Given the description of an element on the screen output the (x, y) to click on. 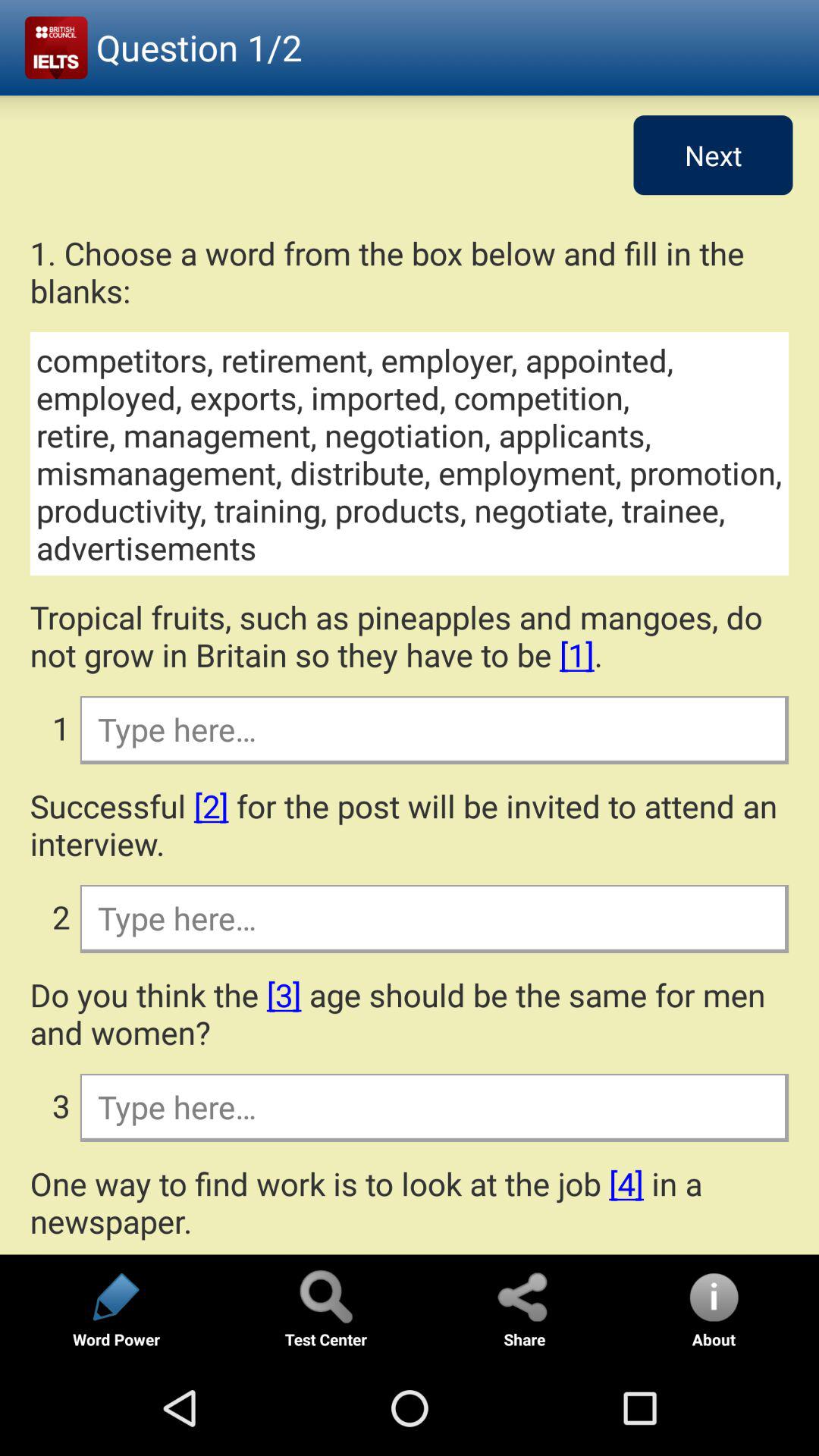
type answer for question 2 (432, 917)
